Given the description of an element on the screen output the (x, y) to click on. 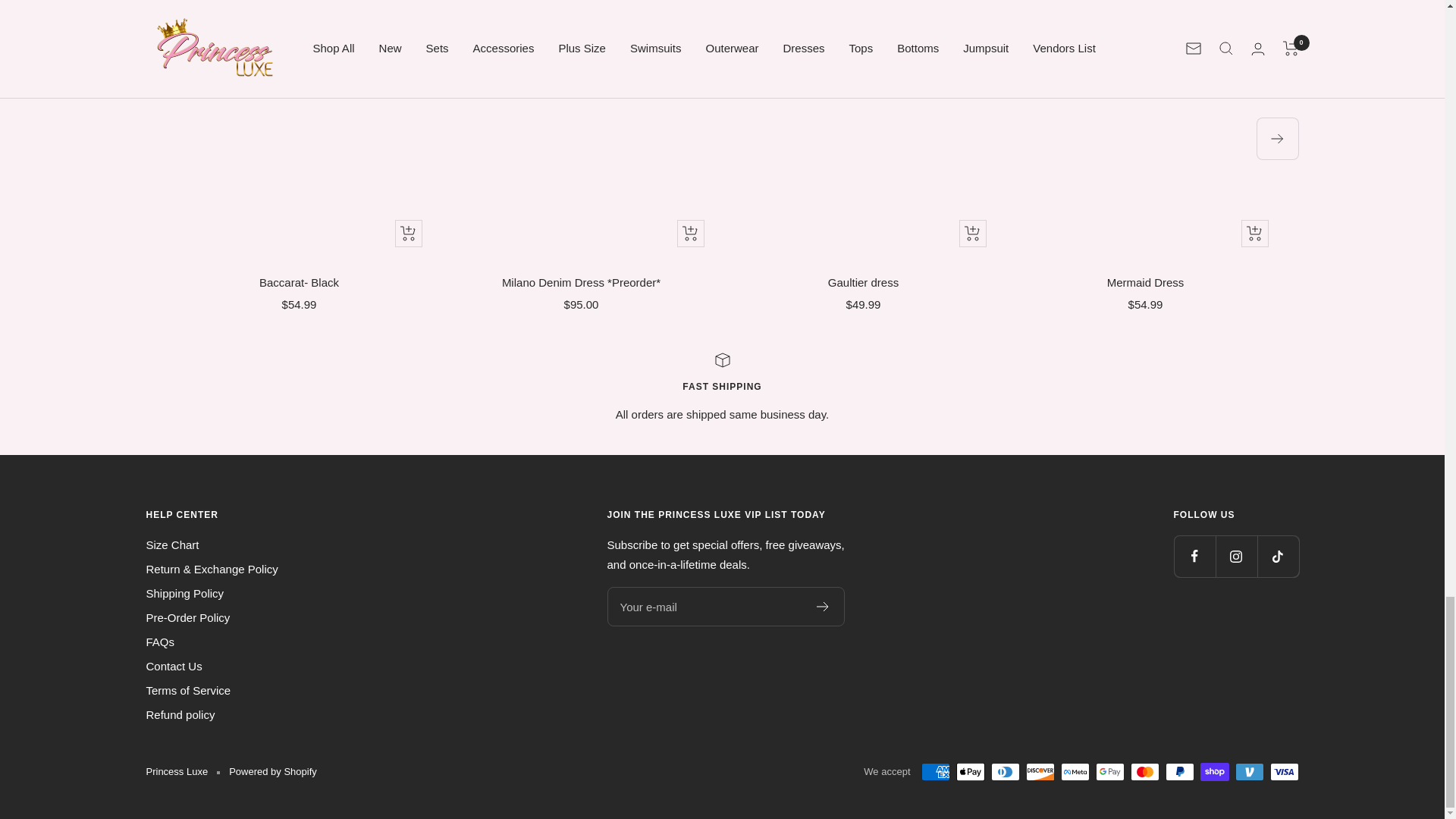
Register (822, 606)
